Given the description of an element on the screen output the (x, y) to click on. 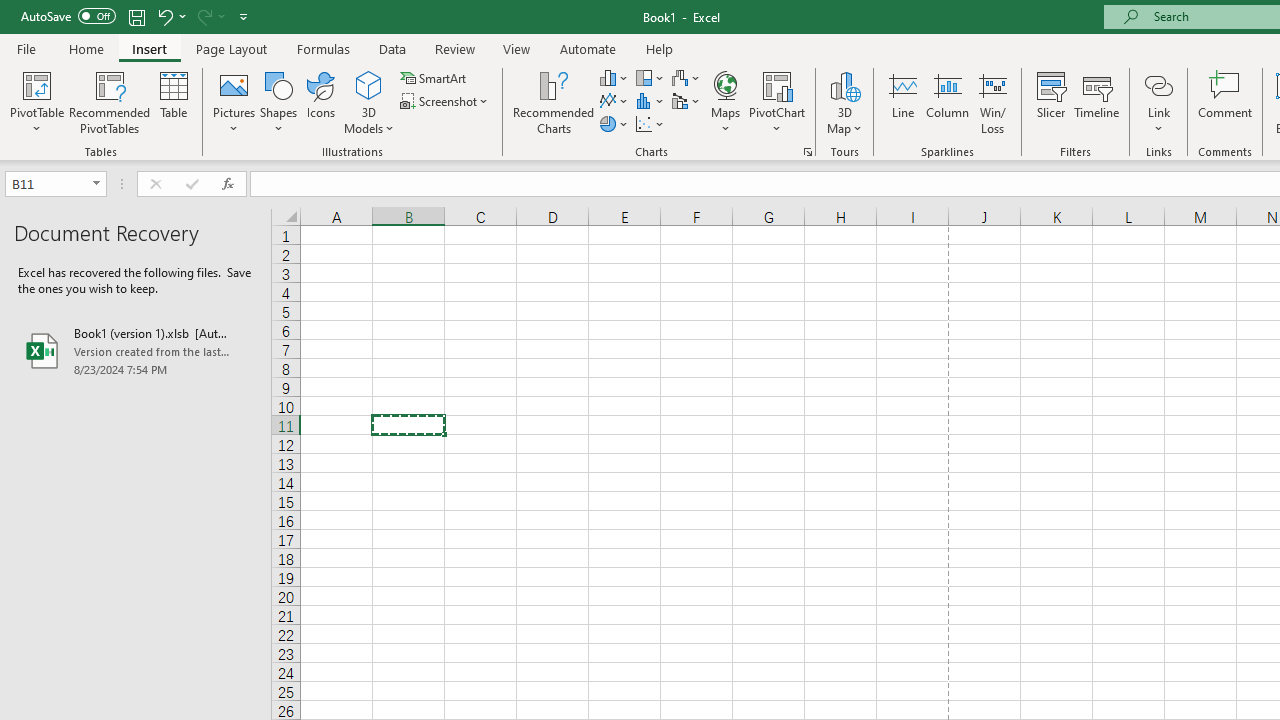
SmartArt... (434, 78)
3D Models (368, 102)
Win/Loss (992, 102)
Insert Waterfall, Funnel, Stock, Surface, or Radar Chart (687, 78)
Table (173, 102)
Insert Line or Area Chart (614, 101)
PivotTable (36, 84)
